Given the description of an element on the screen output the (x, y) to click on. 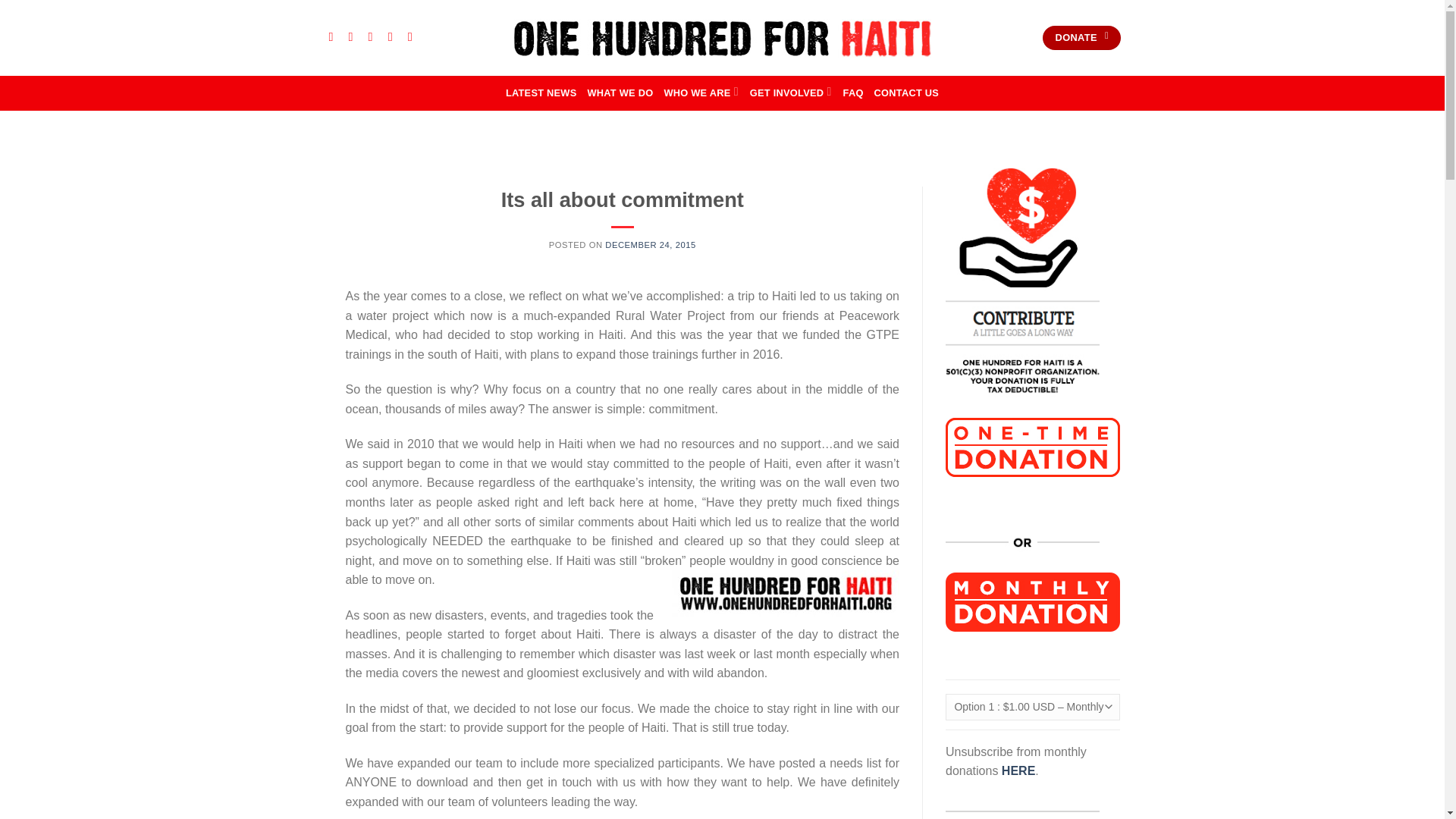
CONTACT US (907, 93)
DONATE (1080, 37)
WHO WE ARE (700, 93)
One Hundred For Haiti (722, 37)
HERE (1018, 770)
LATEST NEWS (540, 93)
WHAT WE DO (619, 93)
DECEMBER 24, 2015 (650, 244)
GET INVOLVED (790, 93)
